Given the description of an element on the screen output the (x, y) to click on. 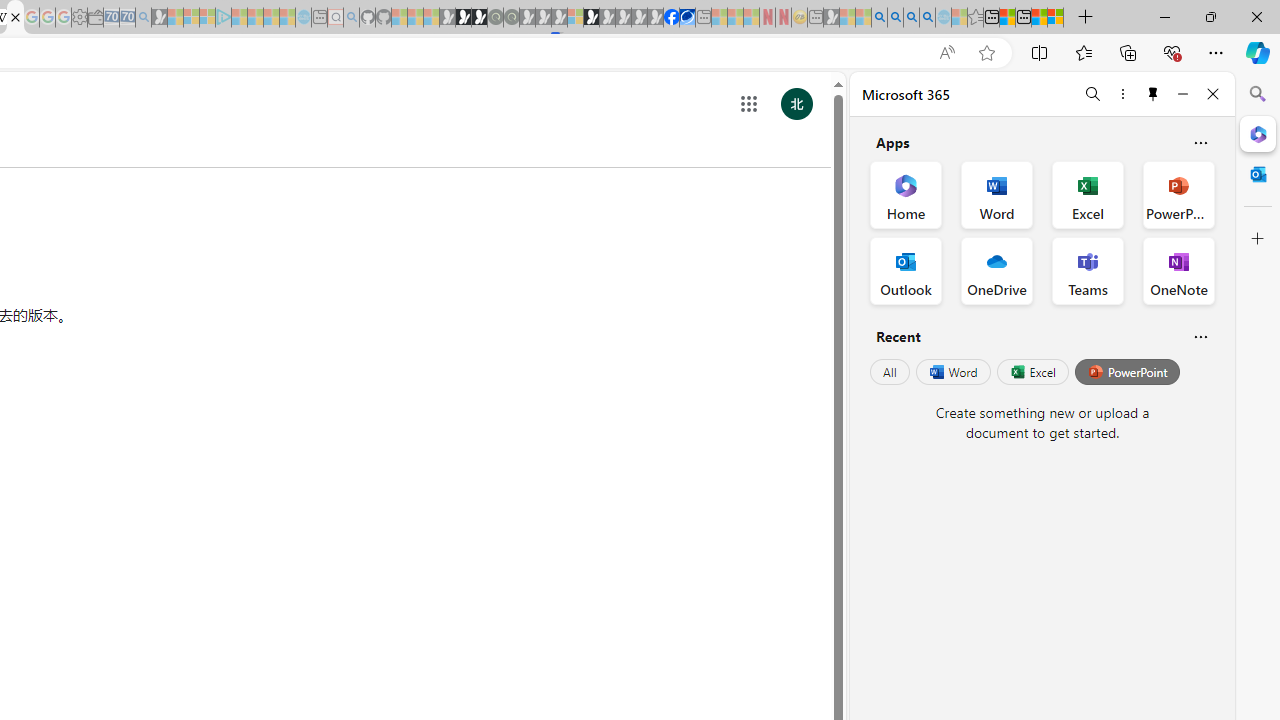
Excel (1031, 372)
Is this helpful? (1200, 336)
Favorites - Sleeping (975, 17)
